Given the description of an element on the screen output the (x, y) to click on. 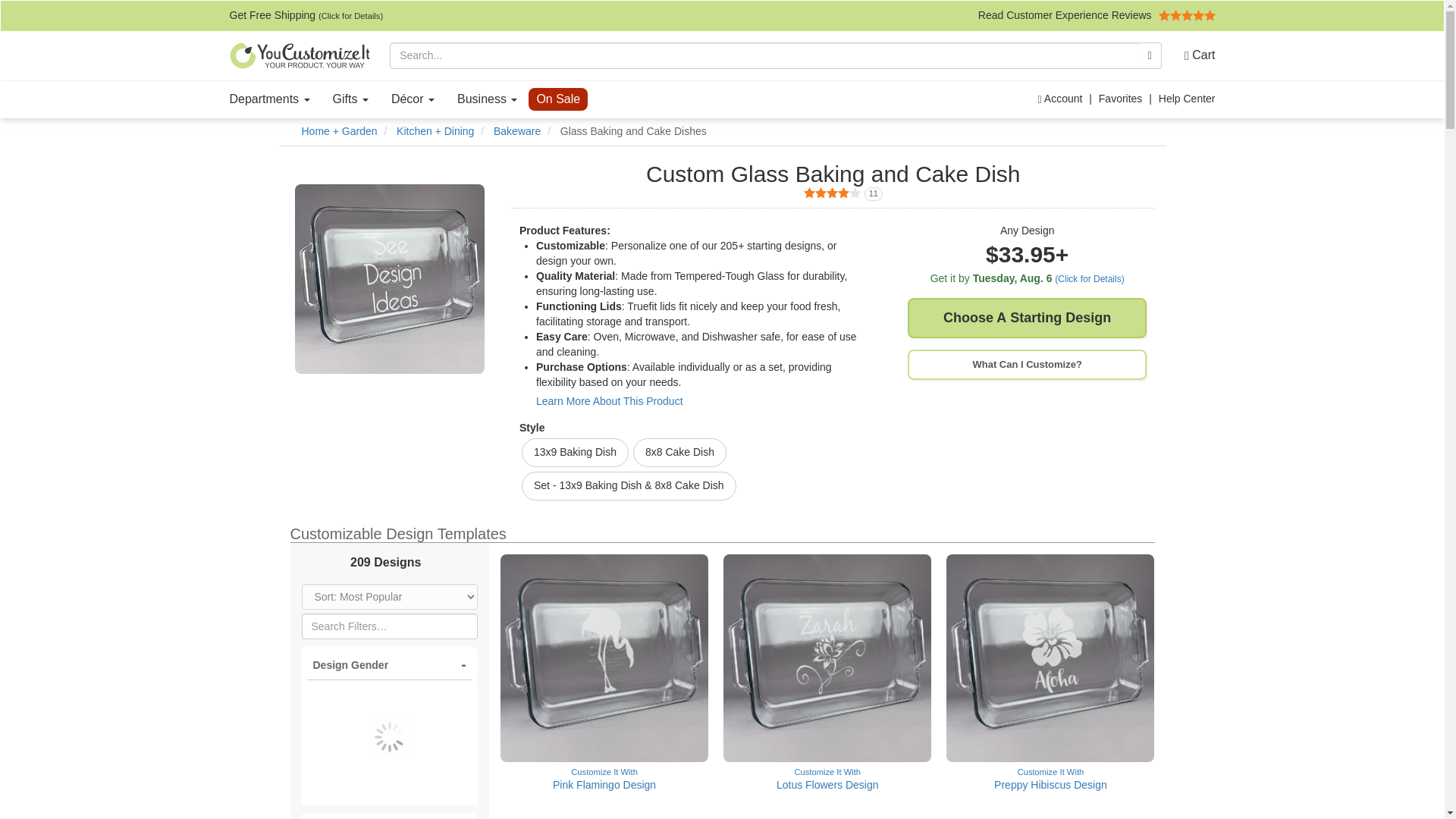
Choose A Starting Design (1027, 318)
Calculate Shipping (1027, 278)
Cart (1194, 55)
Business (486, 99)
Departments (269, 99)
Gifts (833, 194)
Learn More About This Product (350, 99)
Read Customer Experience Reviews (608, 400)
